Given the description of an element on the screen output the (x, y) to click on. 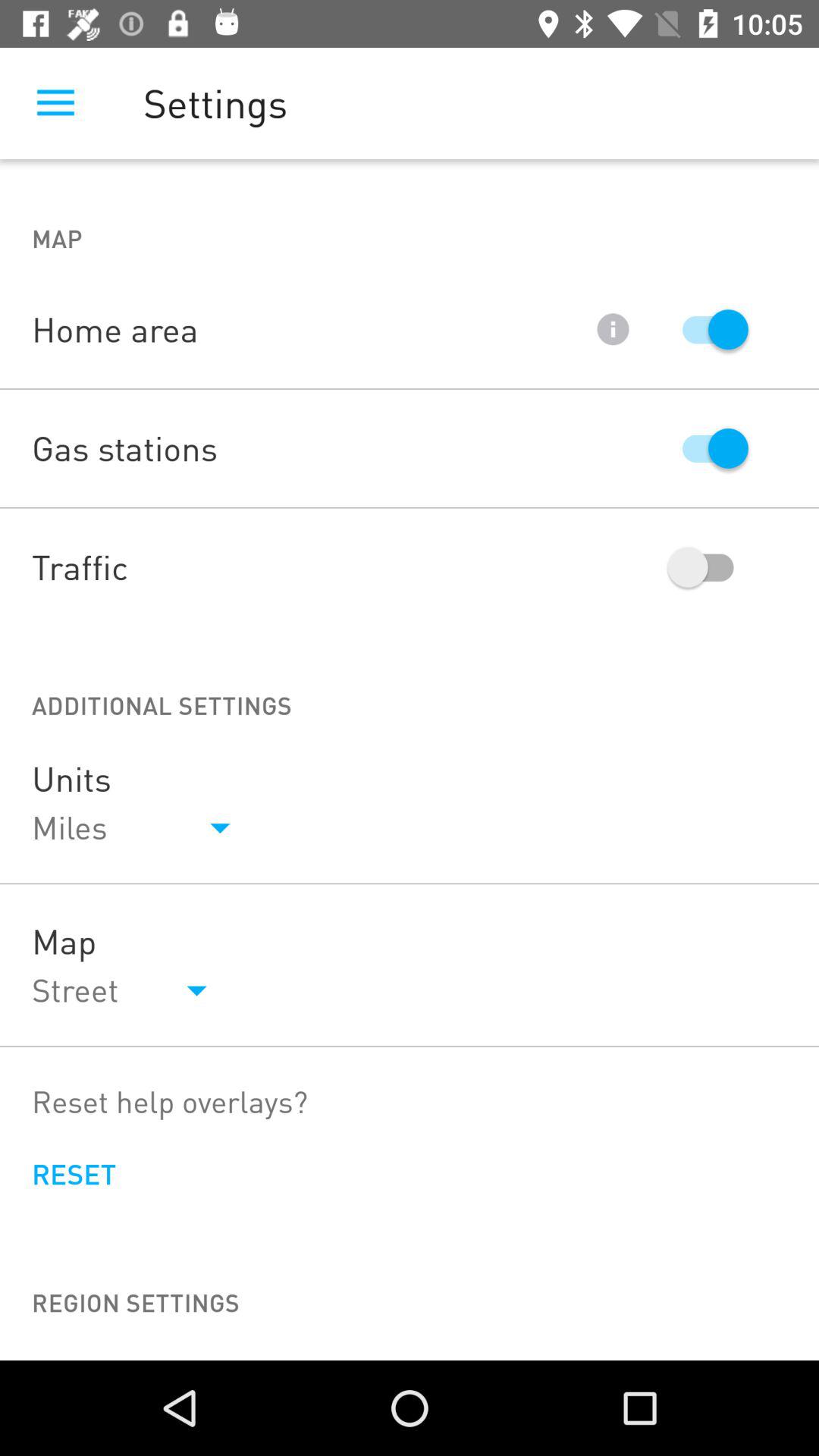
toggle the option to view traffic information (707, 567)
